Given the description of an element on the screen output the (x, y) to click on. 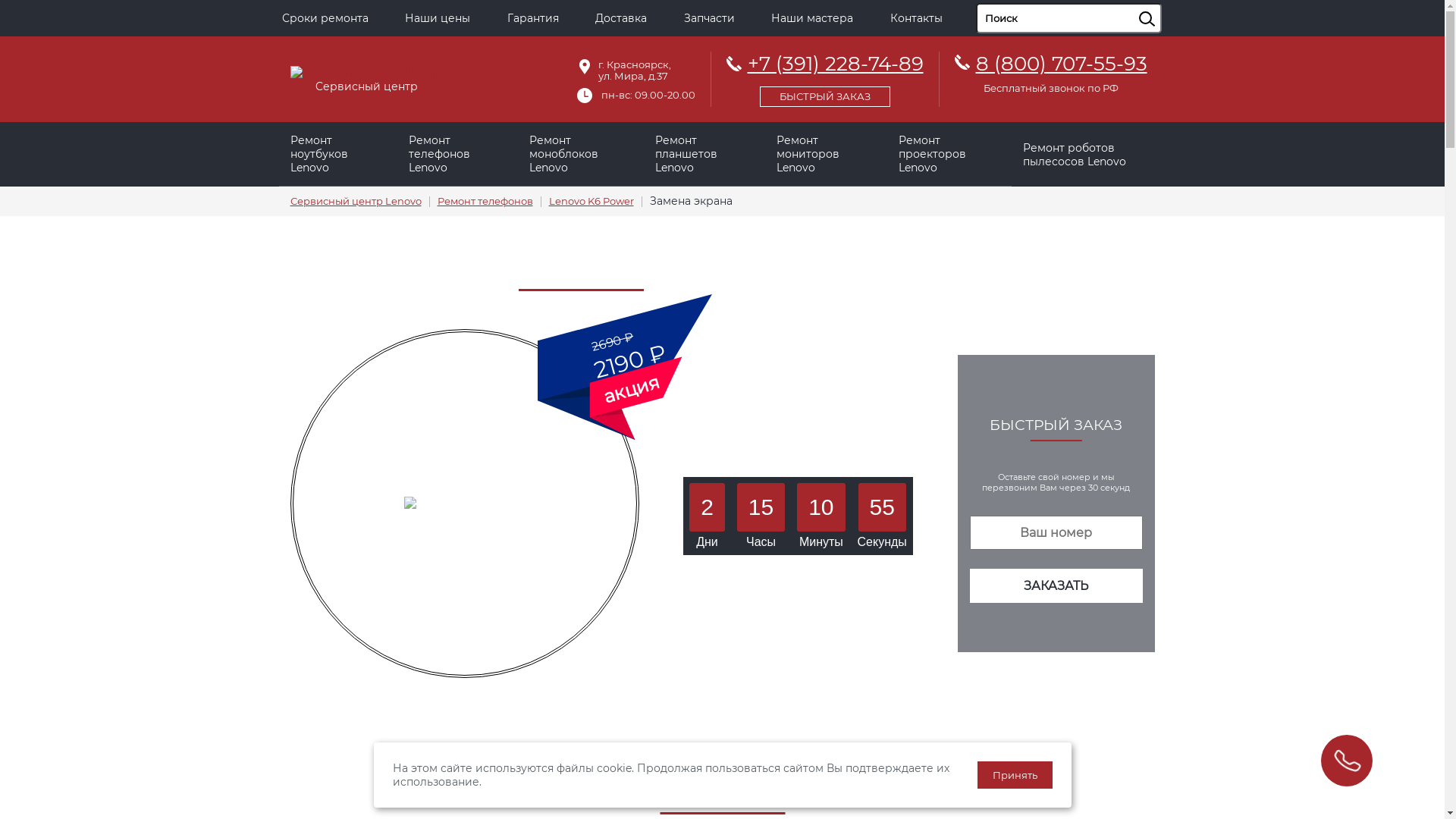
+7 (391) 228-74-89 Element type: text (824, 77)
8 (800) 707-55-93 Element type: text (1060, 63)
sisea.search Element type: text (1165, 3)
Lenovo K6 Power Element type: text (591, 201)
